Given the description of an element on the screen output the (x, y) to click on. 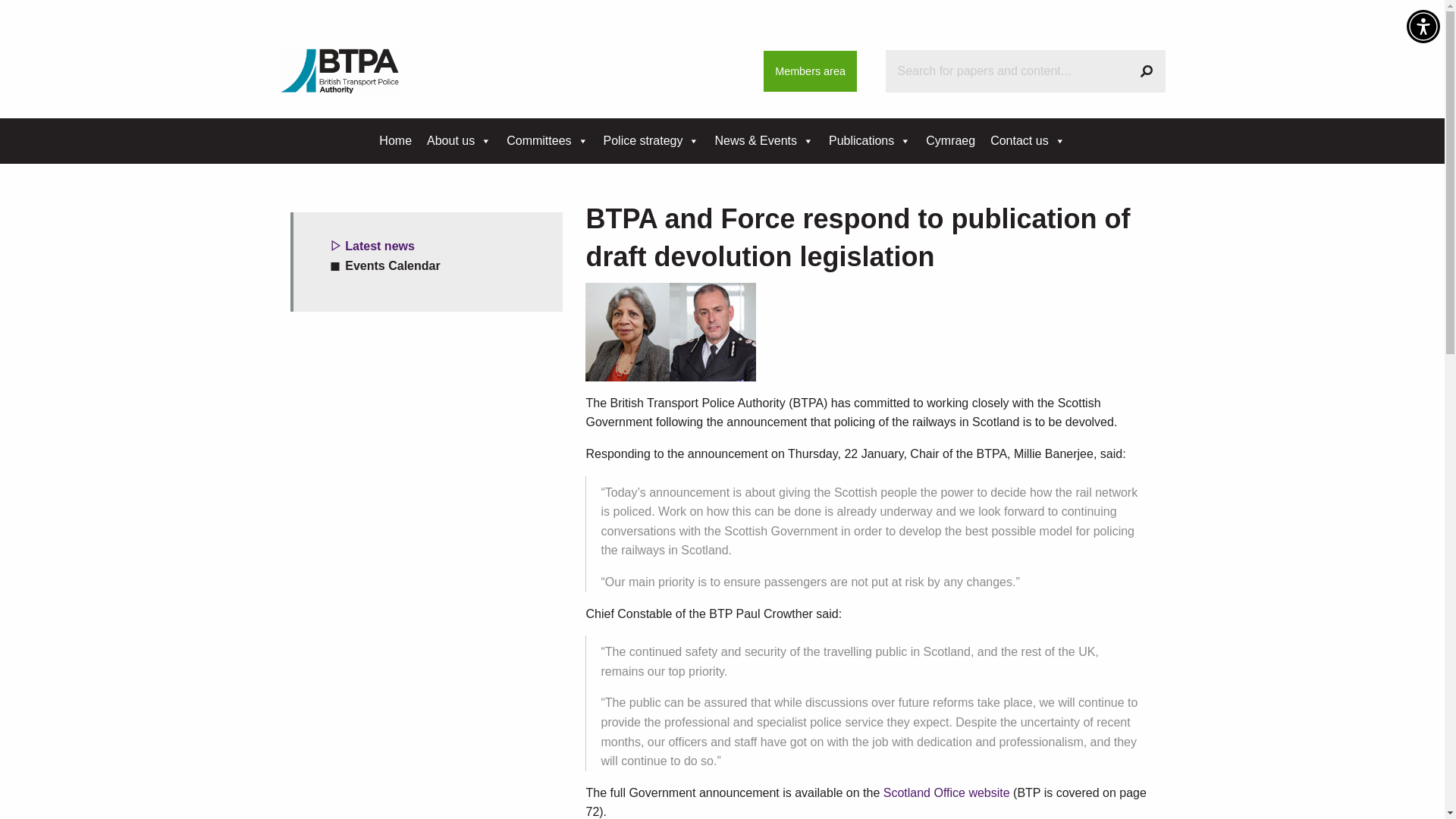
About us (459, 140)
Committees (547, 140)
Search (1146, 70)
Publications (869, 140)
Police strategy (651, 140)
Accessibility Menu (1422, 26)
Members area (809, 70)
Home (395, 140)
British Transport Police Authority (339, 69)
